Given the description of an element on the screen output the (x, y) to click on. 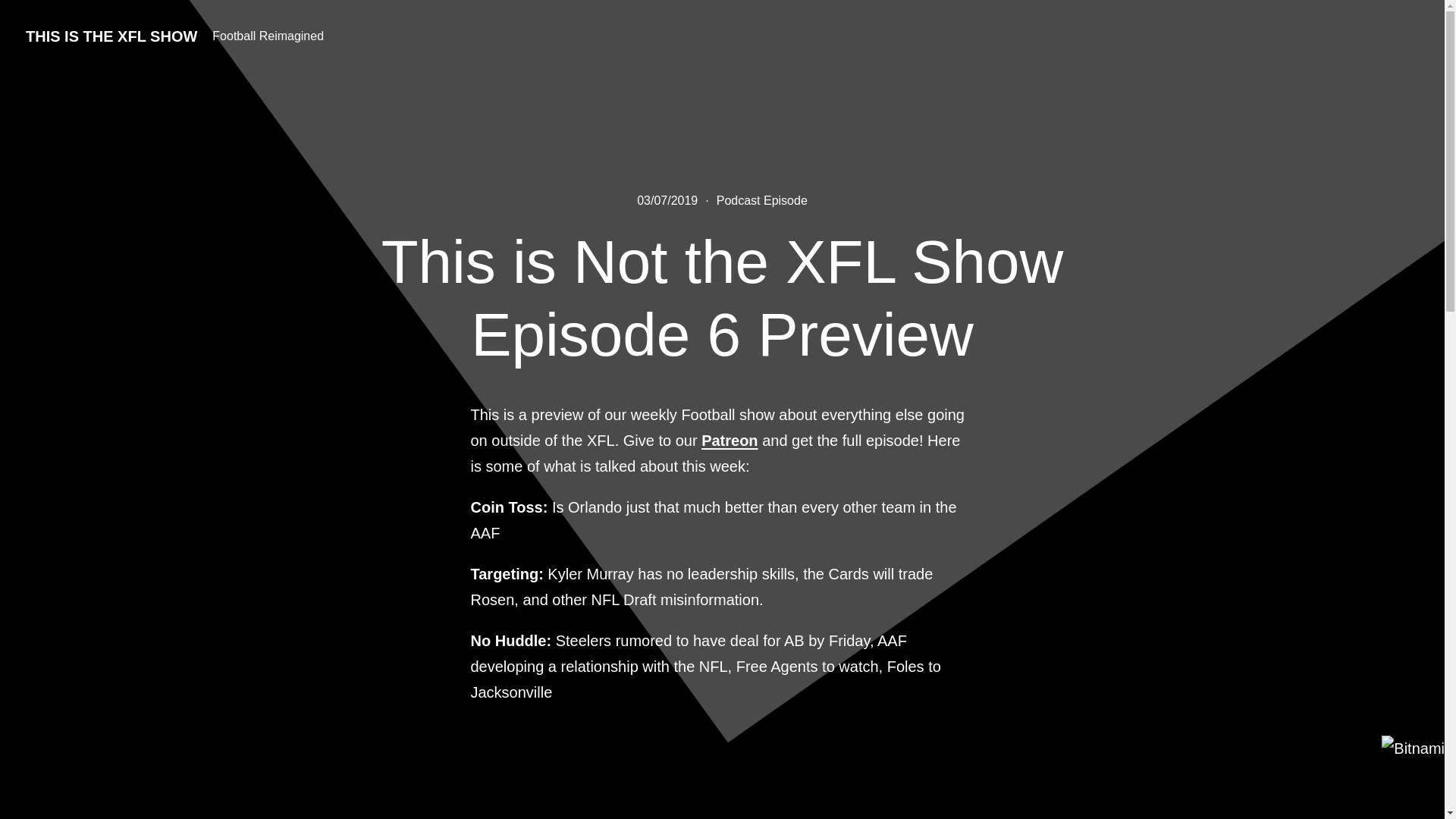
Podcast Episode (762, 200)
THIS IS THE XFL SHOW (111, 36)
Patreon (729, 440)
